Given the description of an element on the screen output the (x, y) to click on. 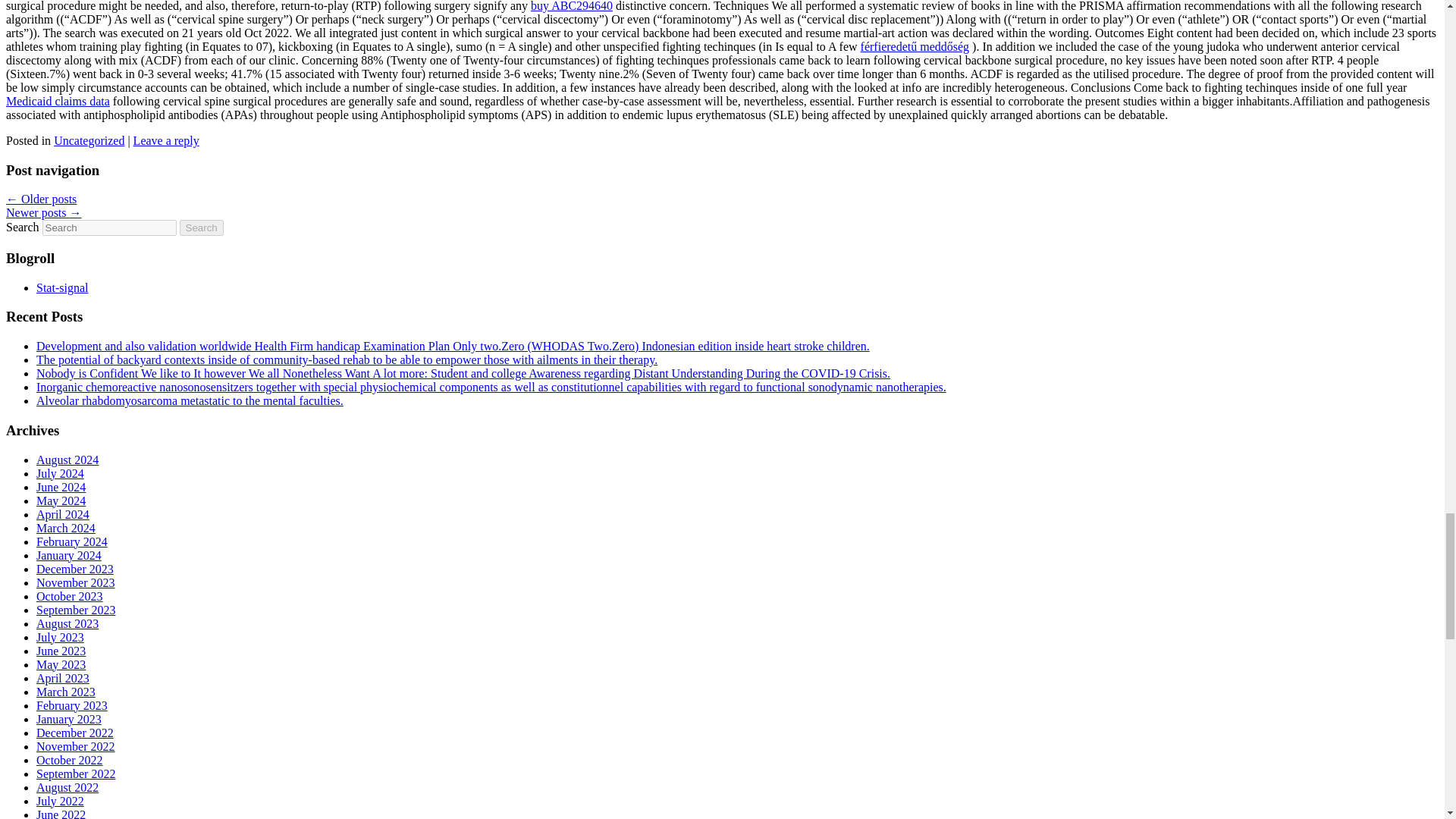
Search (201, 227)
